Given the description of an element on the screen output the (x, y) to click on. 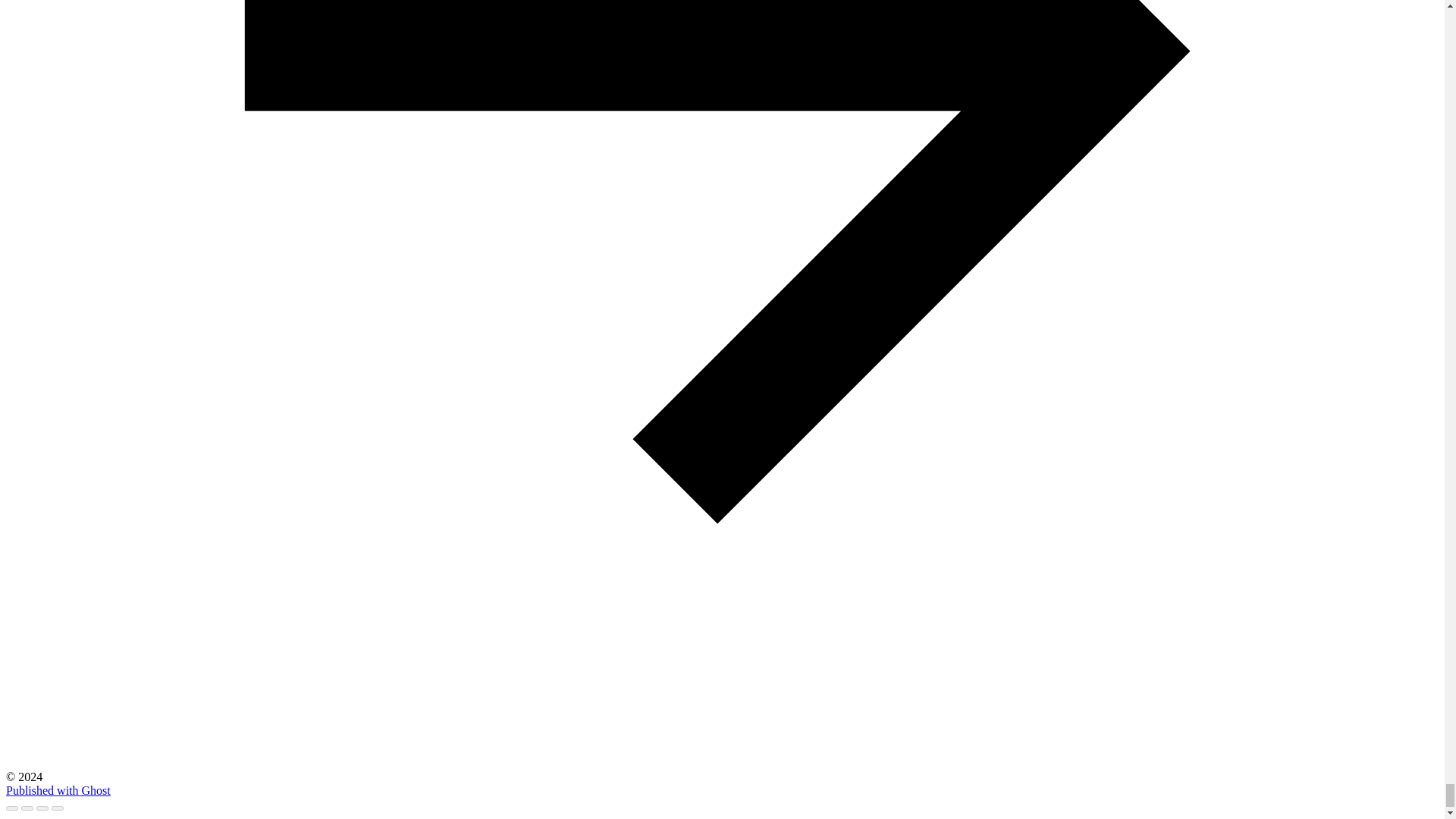
Toggle fullscreen (42, 807)
Share (27, 807)
